Given the description of an element on the screen output the (x, y) to click on. 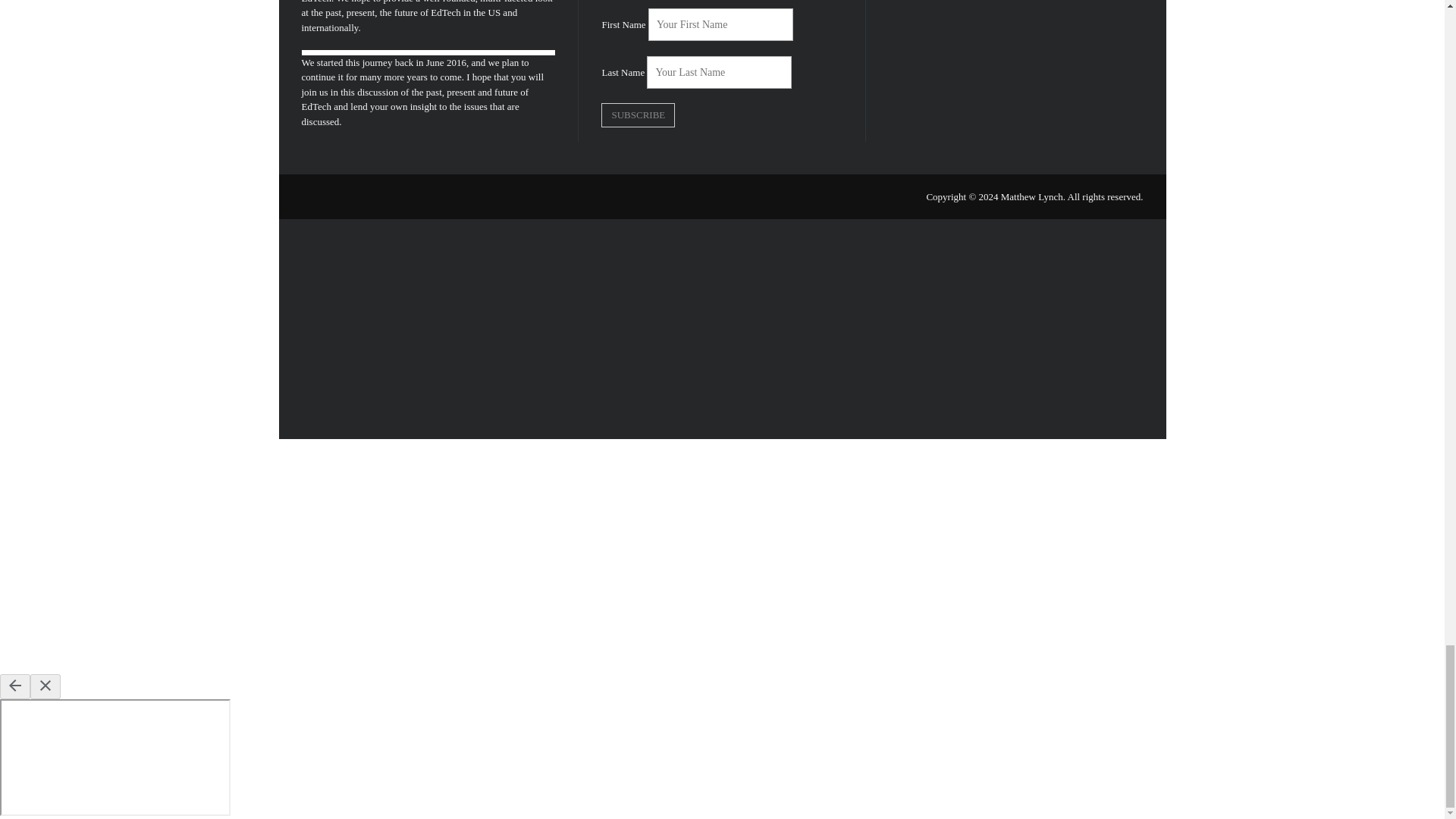
Subscribe (638, 115)
